Given the description of an element on the screen output the (x, y) to click on. 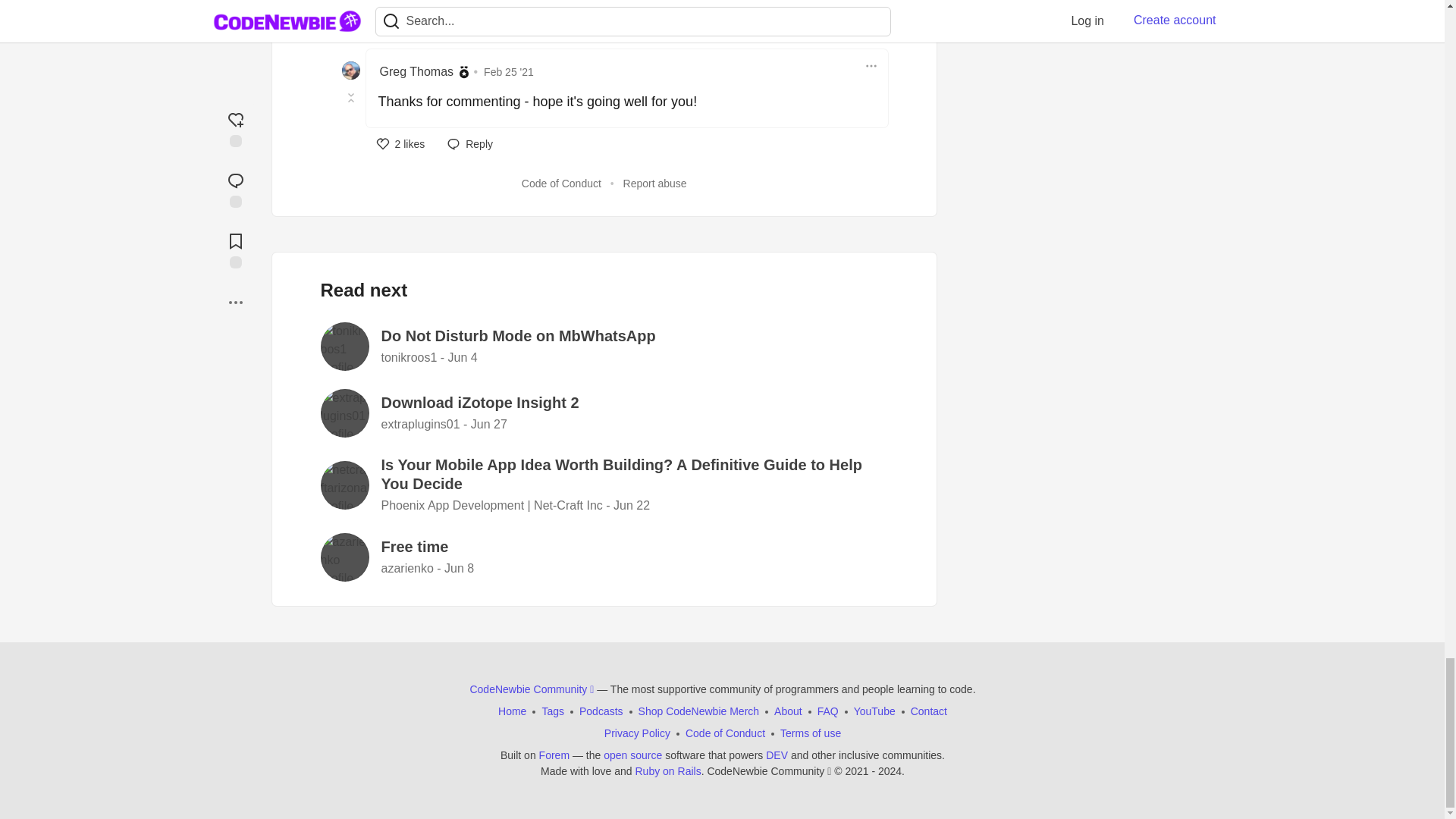
Dropdown menu (870, 65)
Thursday, February 25, 2021 at 11:28:57 PM (508, 71)
